Given the description of an element on the screen output the (x, y) to click on. 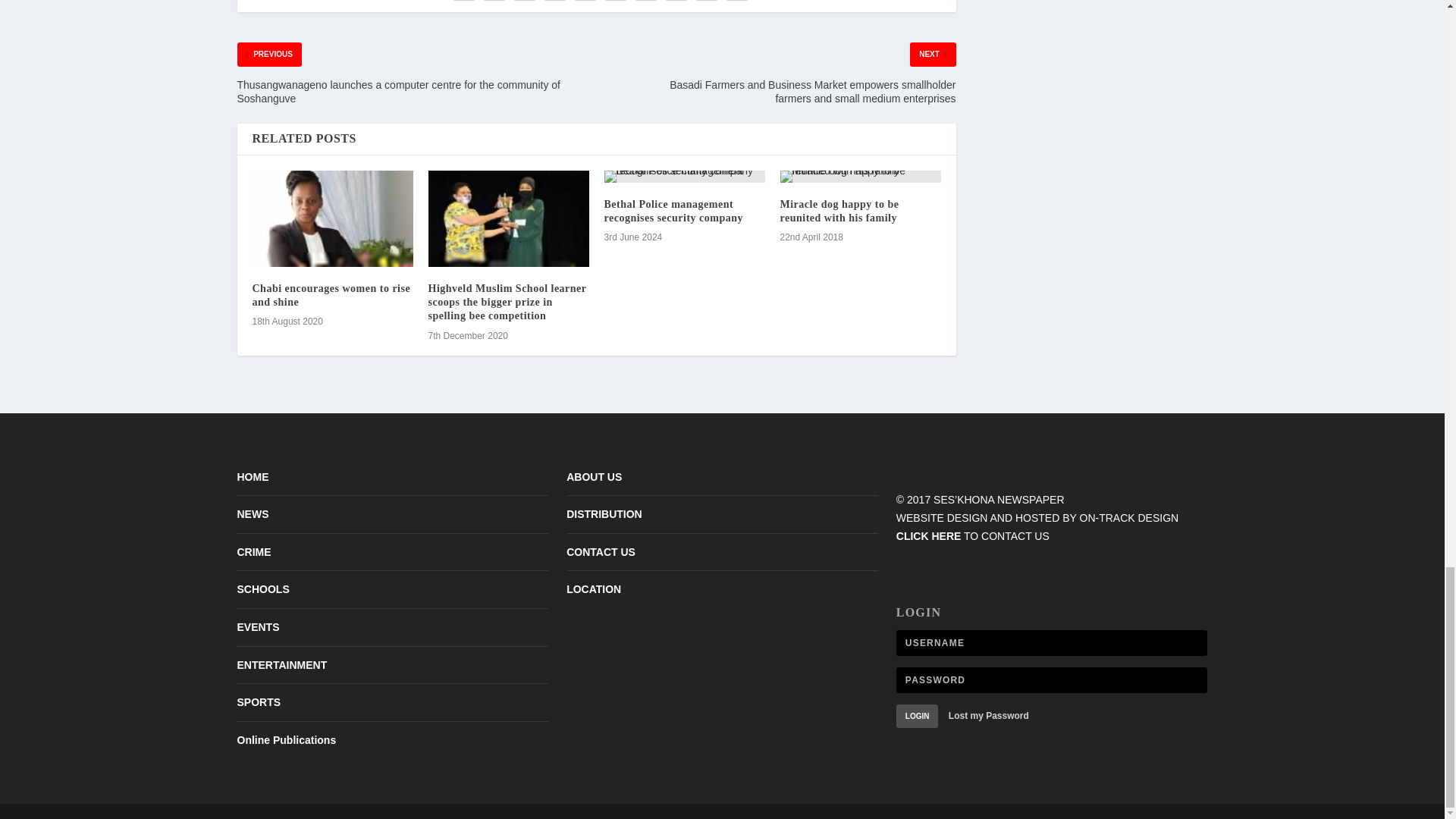
Miracle dog happy to be reunited with his family (838, 211)
Bethal Police management recognises security company (673, 211)
Chabi encourages women to rise and shine (331, 218)
